Given the description of an element on the screen output the (x, y) to click on. 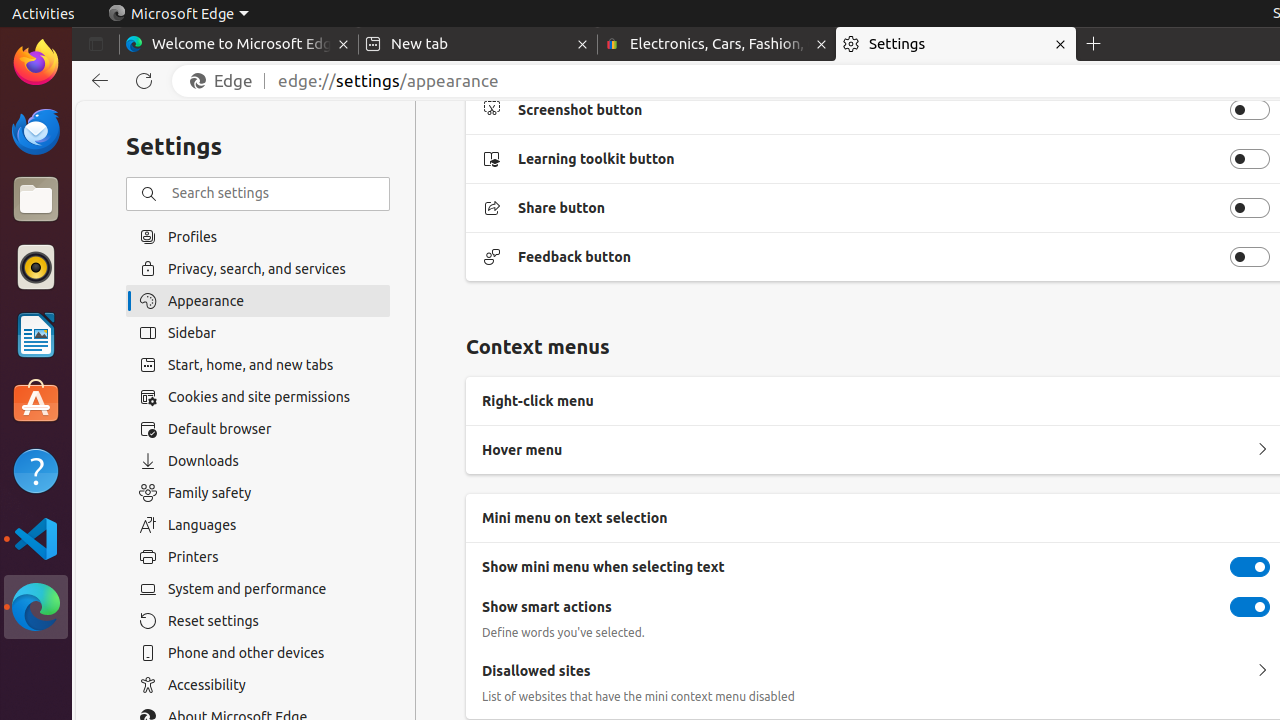
Microsoft Edge Element type: menu (178, 13)
Disallowed sites Element type: push-button (1262, 671)
New tab Element type: page-tab (478, 44)
Back Element type: push-button (96, 81)
Files Element type: push-button (36, 199)
